Given the description of an element on the screen output the (x, y) to click on. 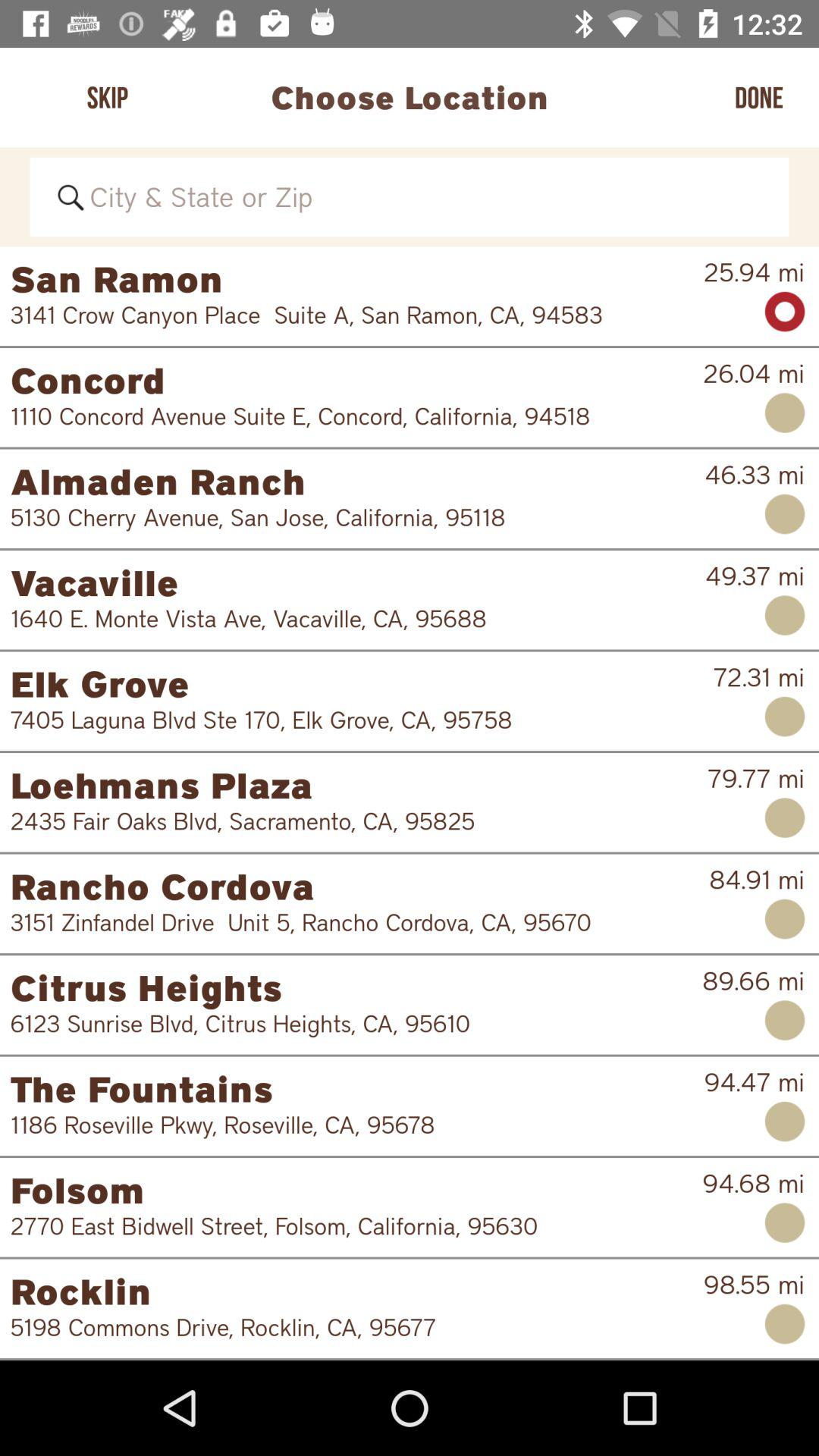
click item to the left of 89.66 mi icon (346, 1023)
